Given the description of an element on the screen output the (x, y) to click on. 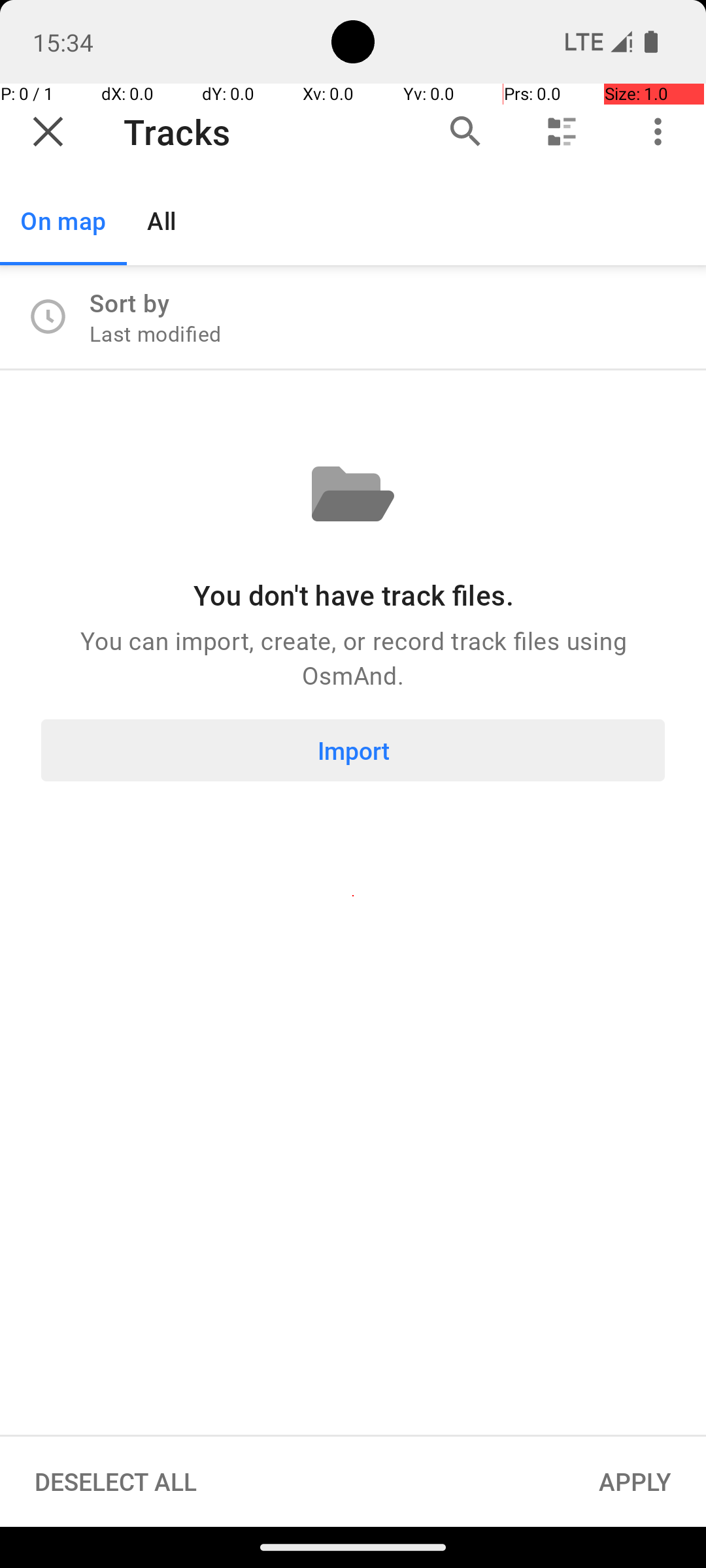
Tracks Element type: android.widget.TextView (256, 131)
Switch folder Element type: android.widget.ImageButton (561, 131)
More actions Element type: android.widget.ImageButton (657, 131)
DESELECT ALL Element type: android.widget.TextView (115, 1481)
APPLY Element type: android.widget.TextView (634, 1481)
On map Element type: android.widget.TextView (63, 220)
All Element type: android.widget.TextView (161, 220)
Last modified Element type: android.widget.TextView (155, 333)
You don't have track files. Element type: android.widget.TextView (352, 594)
You can import, create, or record track files using OsmAnd. Element type: android.widget.TextView (352, 657)
Import Element type: android.widget.TextView (352, 750)
